Given the description of an element on the screen output the (x, y) to click on. 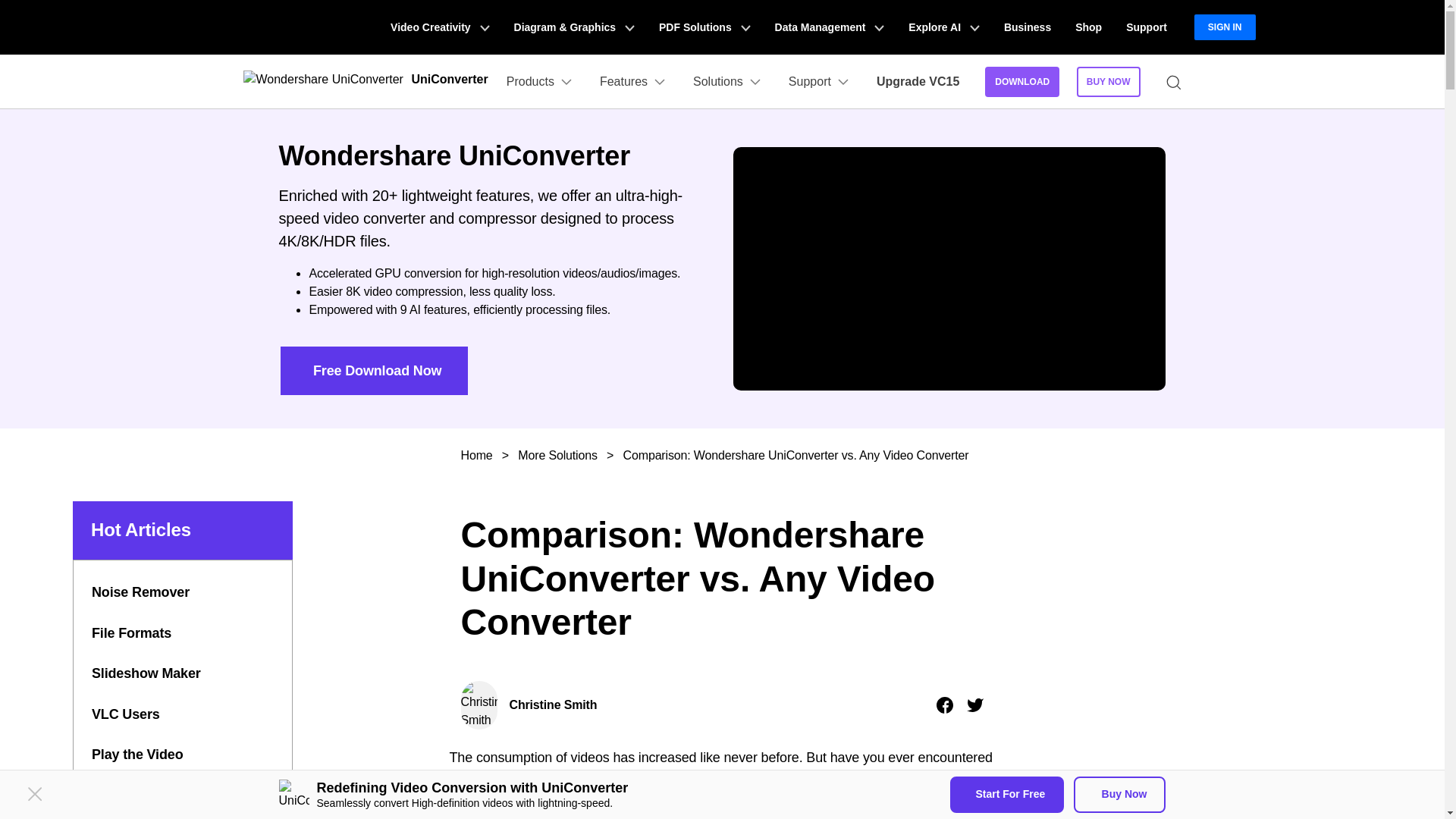
Data Management (829, 27)
PDF Solutions (704, 27)
Explore AI (943, 27)
Video Creativity (439, 27)
